Given the description of an element on the screen output the (x, y) to click on. 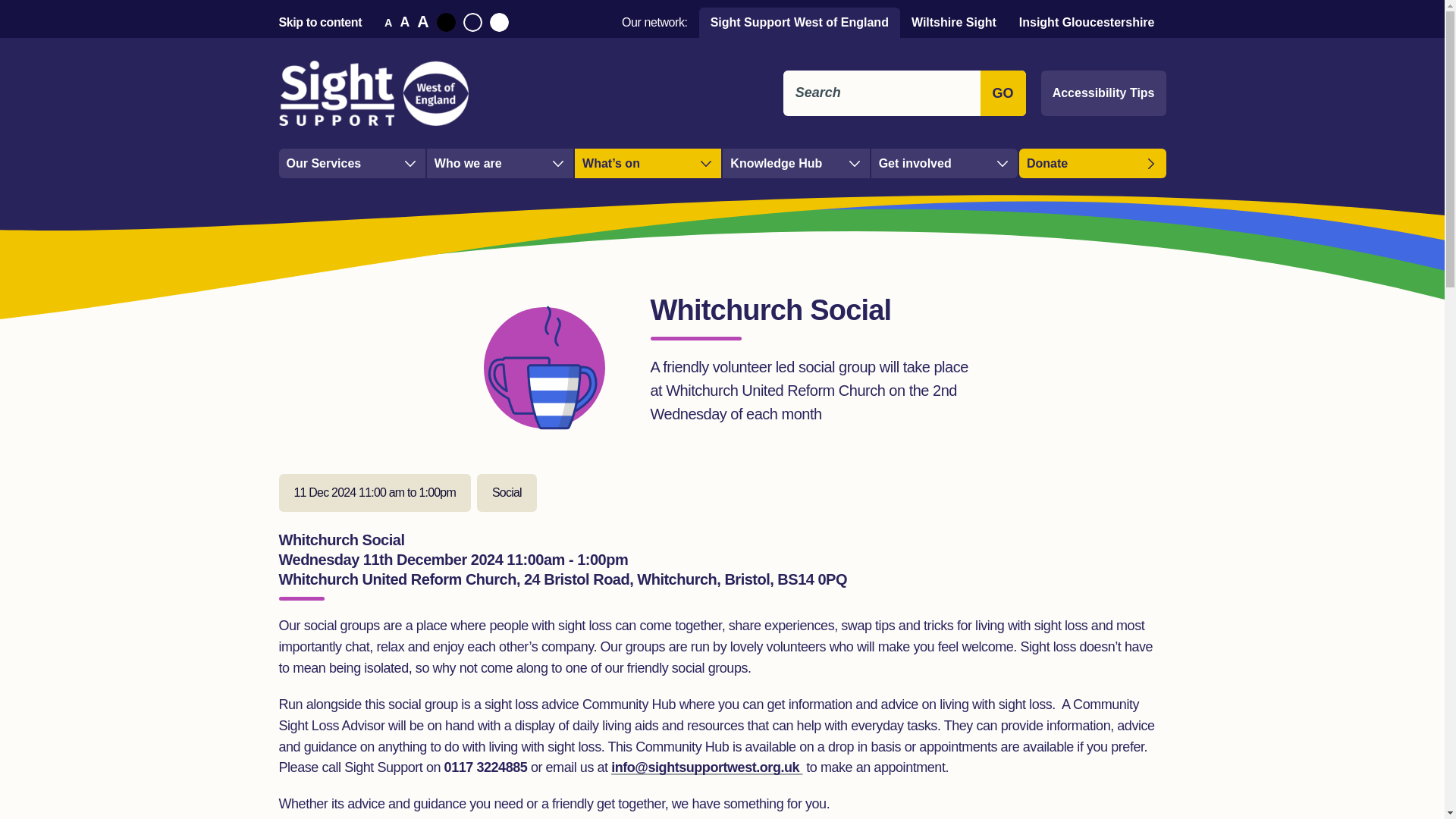
Sight Support West of England (798, 22)
Skip to content (320, 22)
Insight Gloucestershire (1086, 22)
GO (1002, 93)
Wiltshire Sight (953, 22)
Accessibility Tips (1103, 93)
Normal contrast (472, 22)
Who we are (499, 163)
White contrast (498, 22)
Our Services (352, 163)
Black contrast (445, 22)
